Given the description of an element on the screen output the (x, y) to click on. 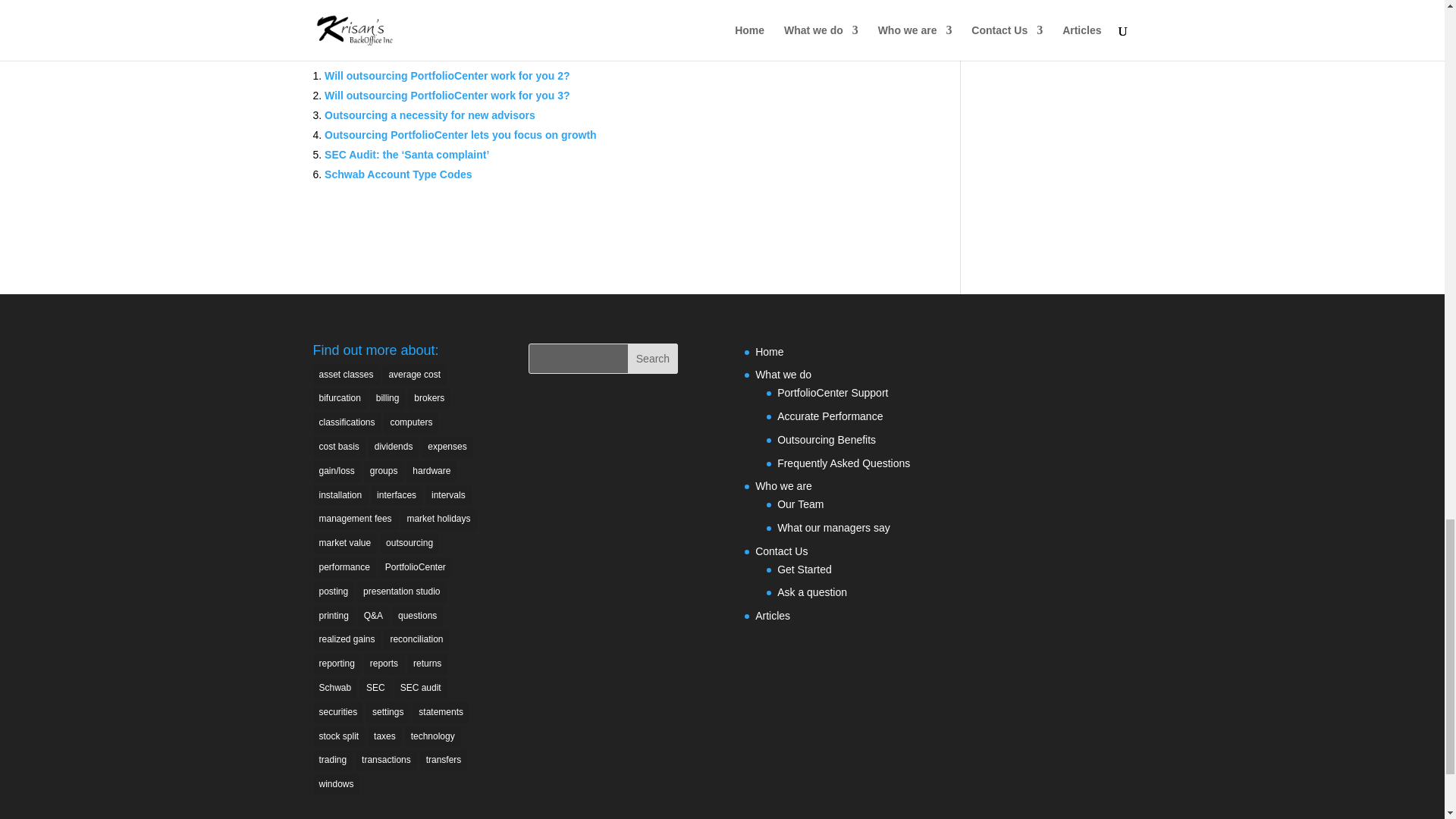
Outsourcing a necessity for new advisors (429, 114)
average cost (413, 374)
Schwab Account Type Codes (397, 174)
Outsourcing a necessity for new advisors (429, 114)
Outsourcing PortfolioCenter lets you focus on growth (460, 134)
Will outsourcing PortfolioCenter work for you 3? (446, 95)
Schwab Account Type Codes (397, 174)
asset classes (345, 374)
Will outsourcing PortfolioCenter work for you 2? (446, 75)
Outsourcing PortfolioCenter lets you focus on growth (460, 134)
Will outsourcing PortfolioCenter work for you 2? (446, 75)
Will outsourcing PortfolioCenter work for you 3? (446, 95)
